Given the description of an element on the screen output the (x, y) to click on. 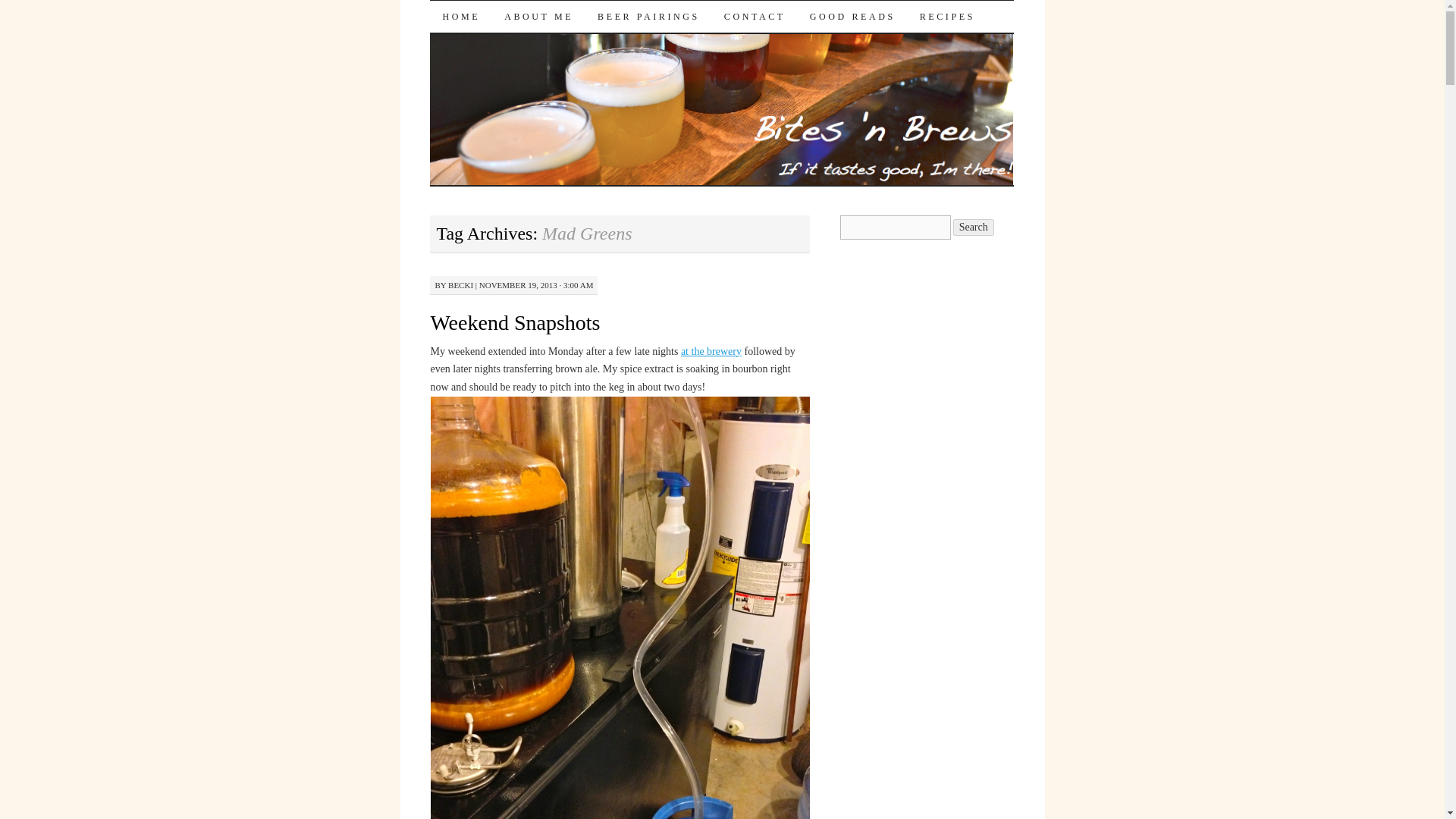
Search (973, 227)
SKIP TO CONTENT (440, 47)
ABOUT ME (538, 16)
Bites 'n Brews (521, 26)
Bites 'n Brews (521, 26)
Weekend Snapshots (514, 322)
RECIPES (947, 16)
BEER PAIRINGS (648, 16)
Skip to content (440, 47)
GOOD READS (852, 16)
CONTACT (754, 16)
View all posts by Becki (460, 284)
at the brewery (711, 351)
BECKI (460, 284)
HOME (460, 16)
